Given the description of an element on the screen output the (x, y) to click on. 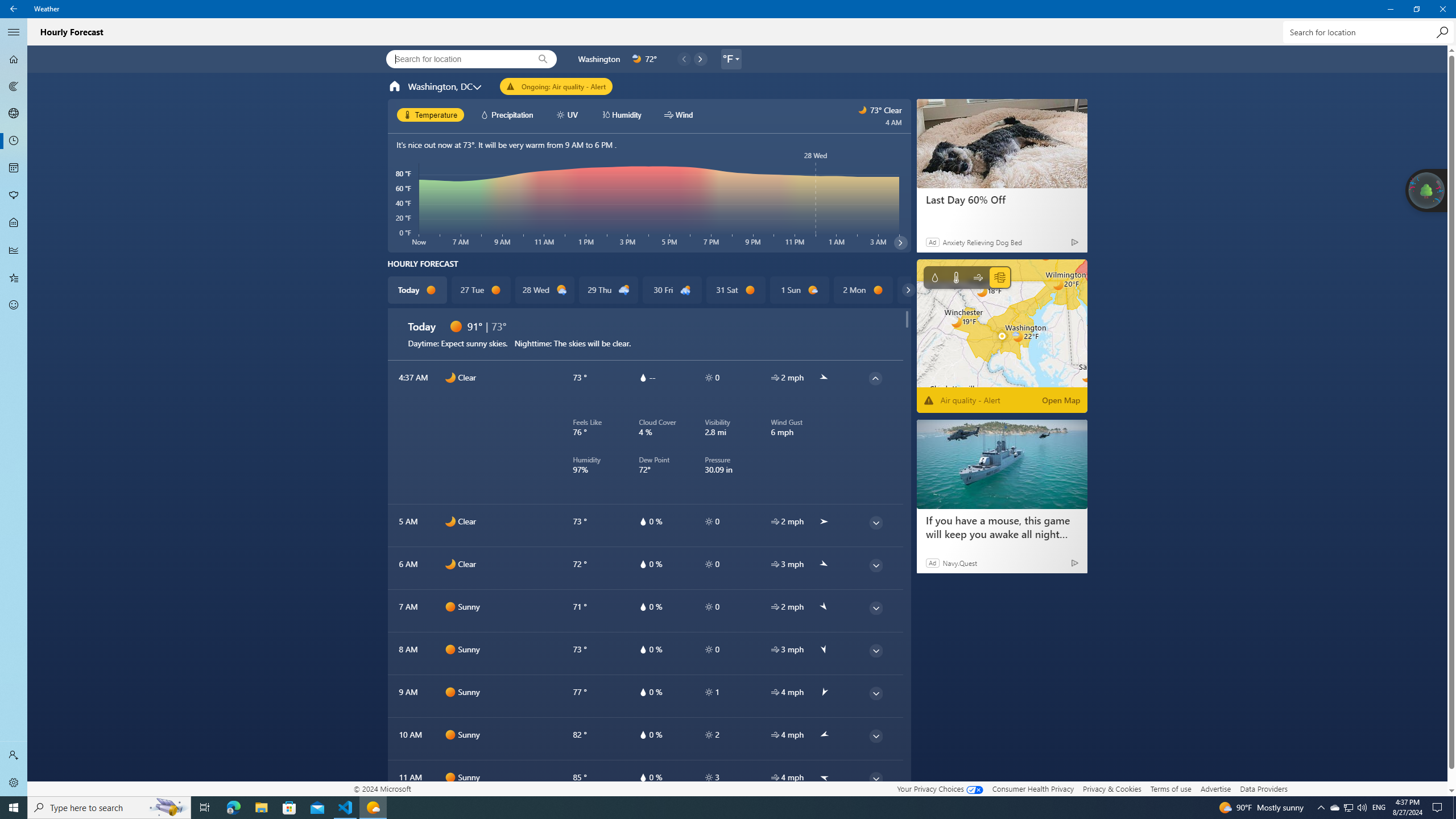
Favorites - Not Selected (13, 277)
Settings (13, 782)
Action Center, No new notifications (1439, 807)
Life - Not Selected (13, 222)
3D Maps - Not Selected (13, 113)
Pollen - Not Selected (13, 195)
Hourly Forecast - Not Selected (13, 140)
File Explorer (1333, 807)
Task View (1347, 807)
Close Weather (261, 807)
Search highlights icon opens search home window (204, 807)
Maps - Not Selected (1442, 9)
